Given the description of an element on the screen output the (x, y) to click on. 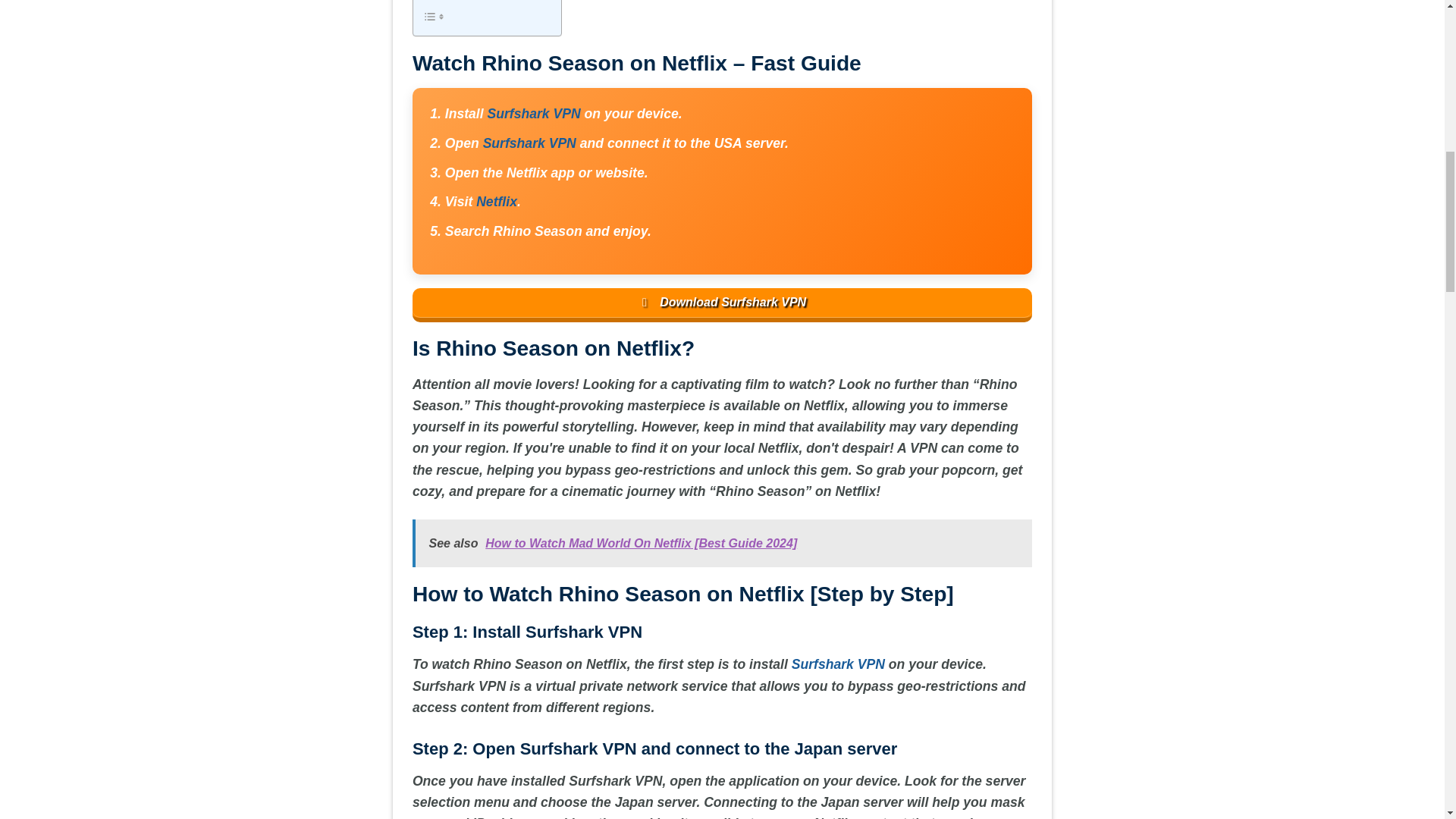
SURFSHARK VPN LINK (532, 113)
Surfshark VPN (532, 113)
Download Surfshark VPN (722, 305)
Netflix (496, 201)
Surfshark VPN (529, 142)
SURFSHARK VPN LINK (529, 142)
Surfshark VPN (838, 663)
